Given the description of an element on the screen output the (x, y) to click on. 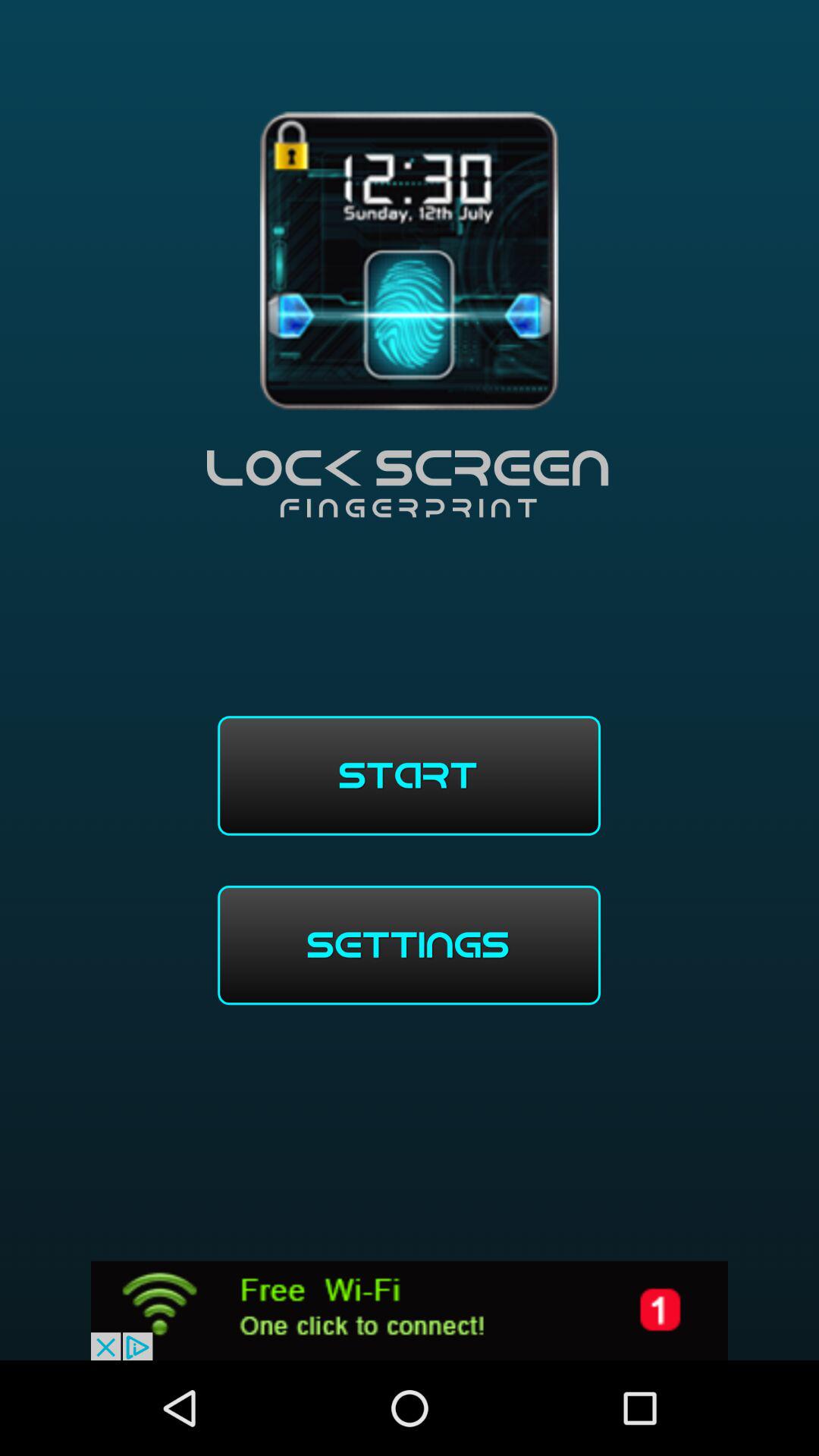
free wi- fi (409, 1310)
